Given the description of an element on the screen output the (x, y) to click on. 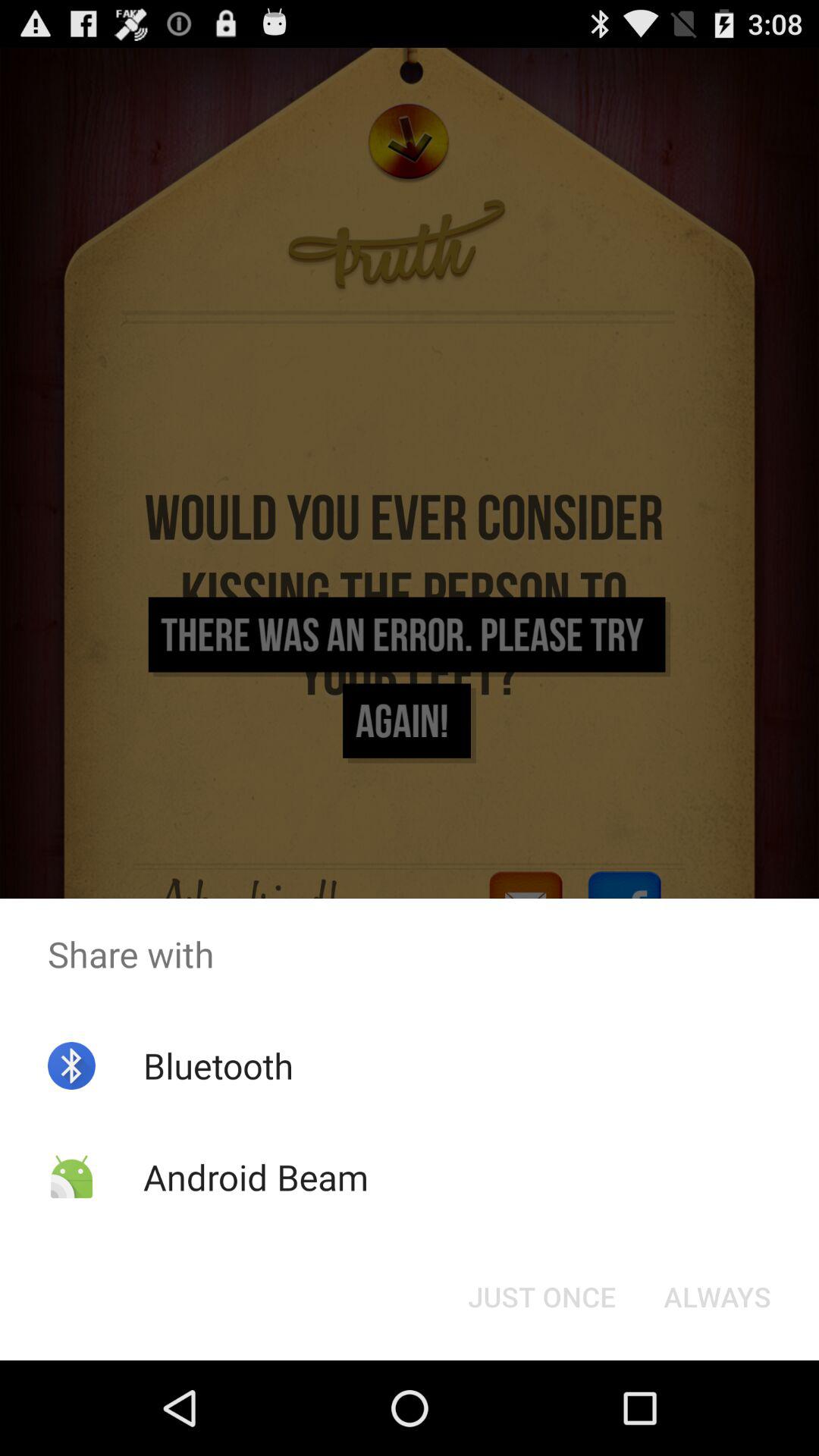
flip until the bluetooth icon (218, 1065)
